Given the description of an element on the screen output the (x, y) to click on. 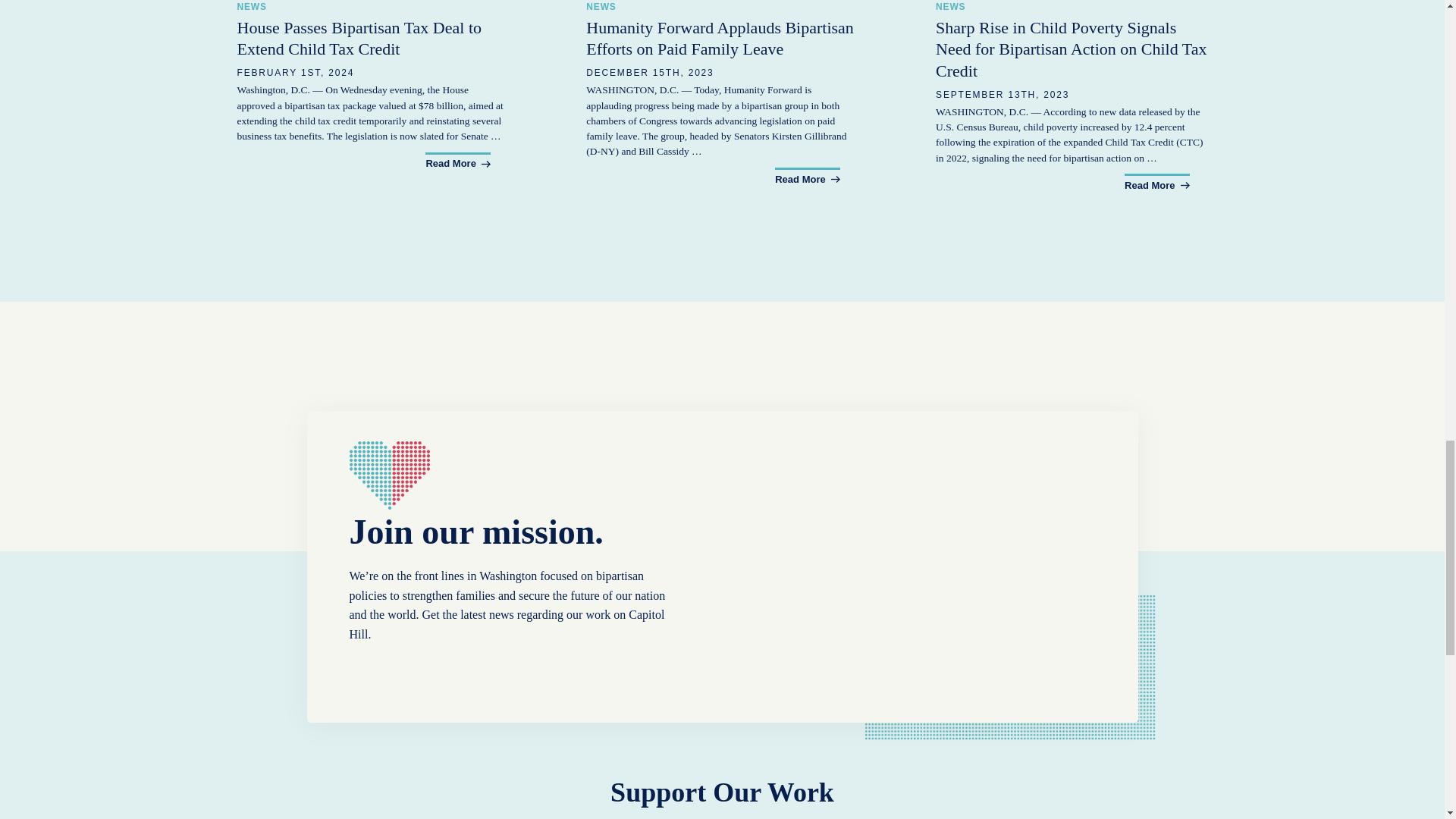
House Passes Bipartisan Tax Deal to Extend Child Tax Credit (371, 85)
